Given the description of an element on the screen output the (x, y) to click on. 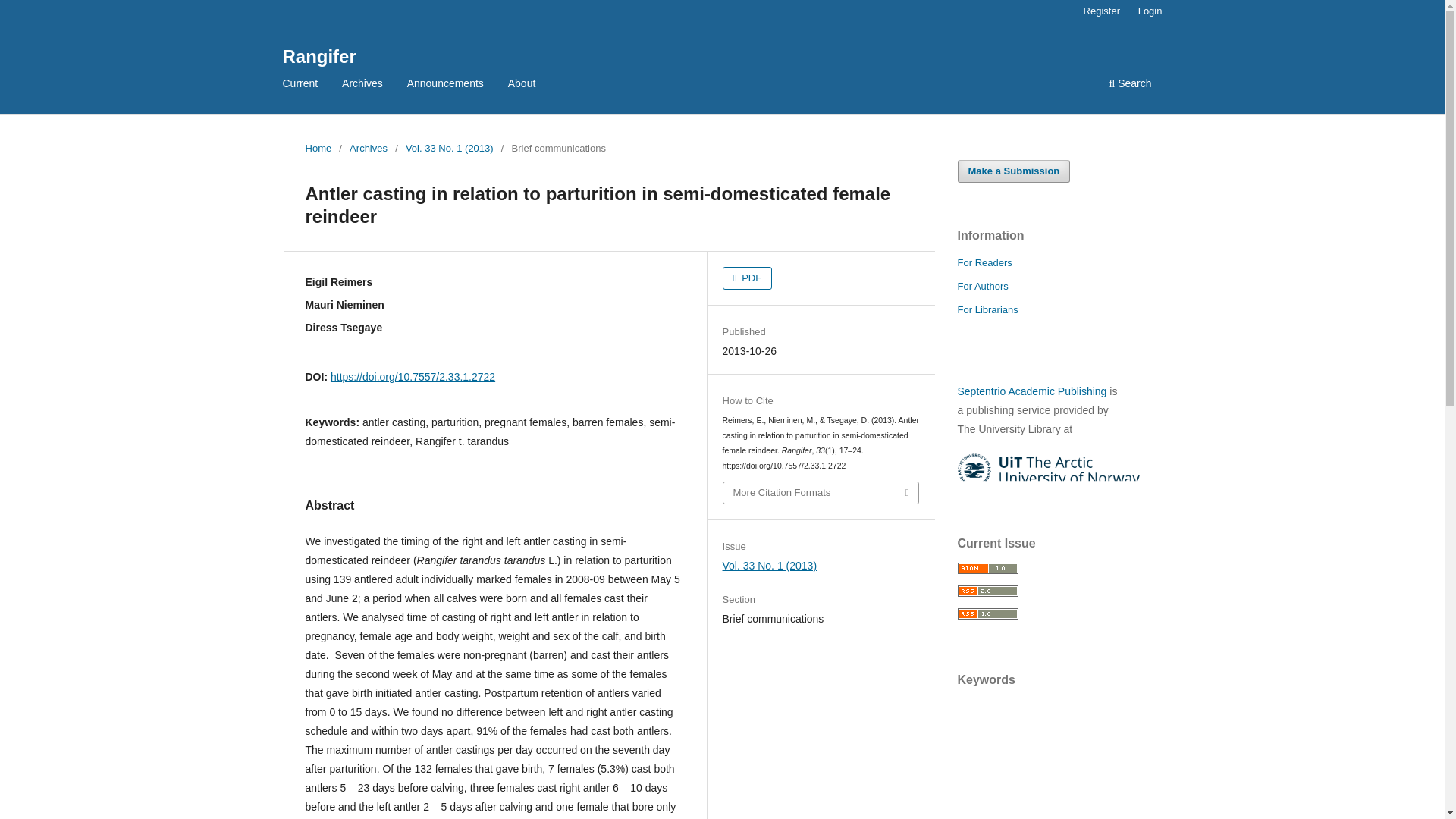
Rangifer (318, 56)
Announcements (445, 85)
Archives (362, 85)
More Citation Formats (820, 492)
Archives (368, 148)
Current (300, 85)
Register (1100, 11)
Home (317, 148)
About (521, 85)
PDF (747, 277)
